Given the description of an element on the screen output the (x, y) to click on. 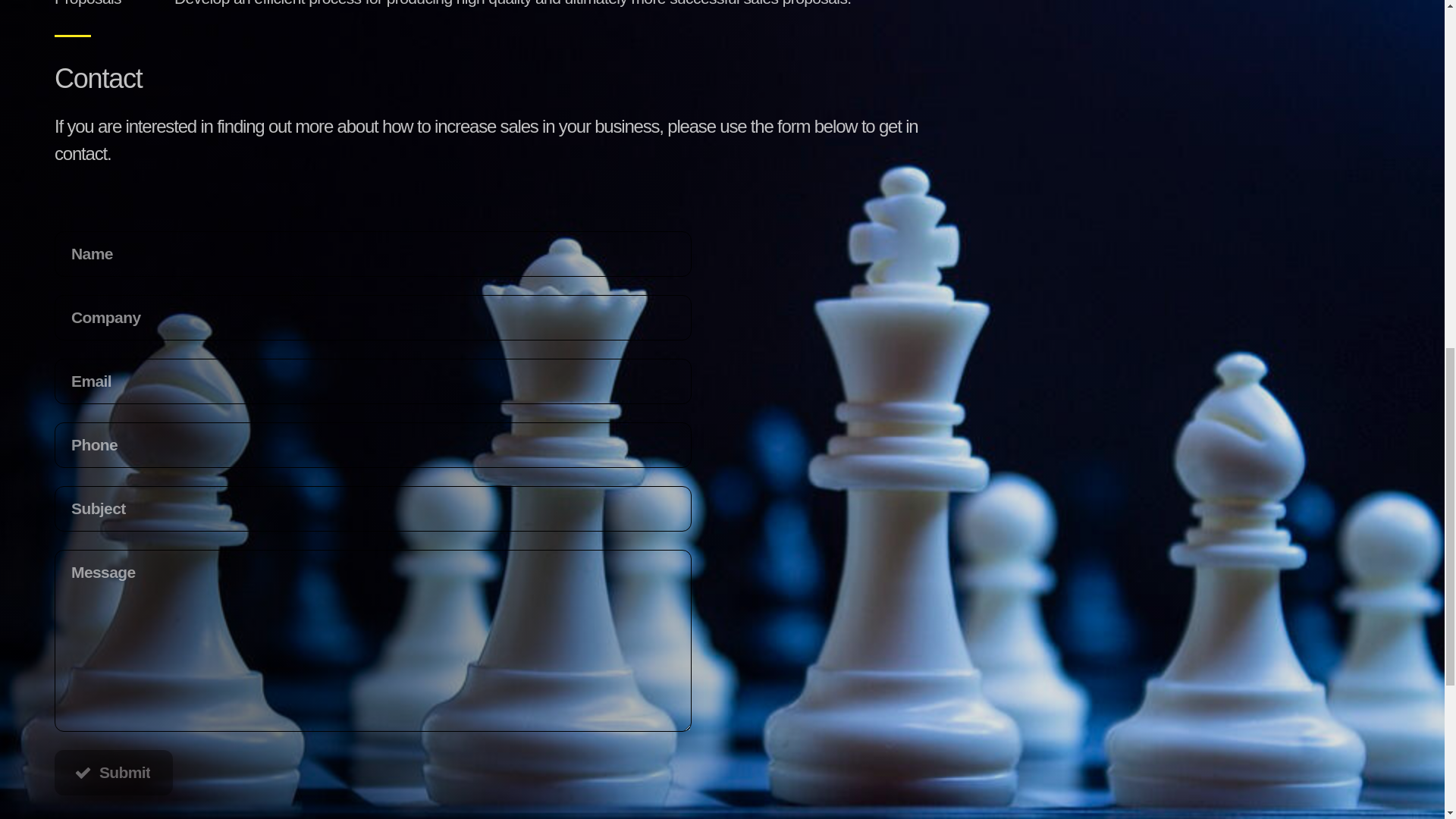
Submit (114, 772)
